Given the description of an element on the screen output the (x, y) to click on. 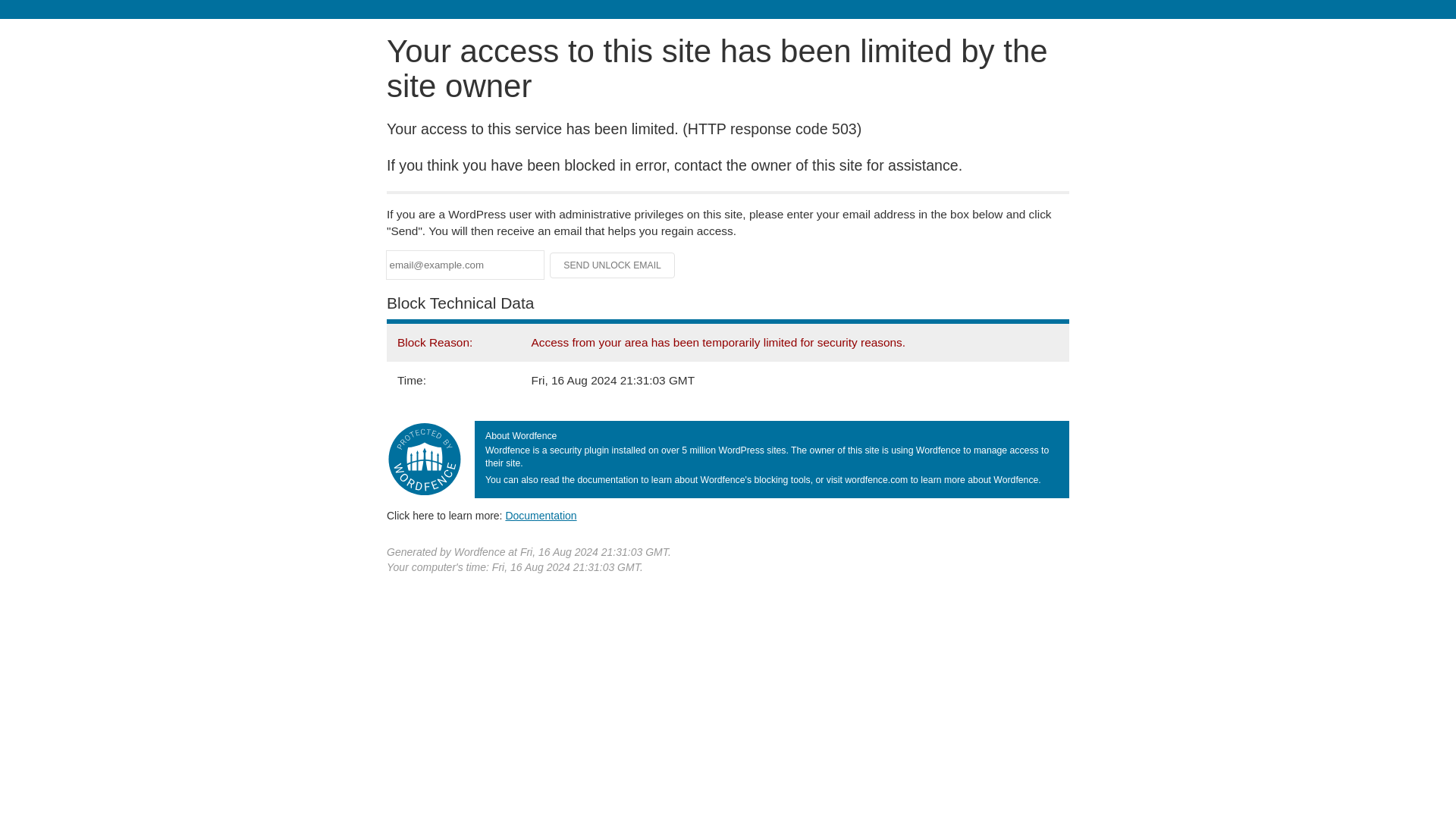
Documentation (540, 515)
Send Unlock Email (612, 265)
Send Unlock Email (612, 265)
